Given the description of an element on the screen output the (x, y) to click on. 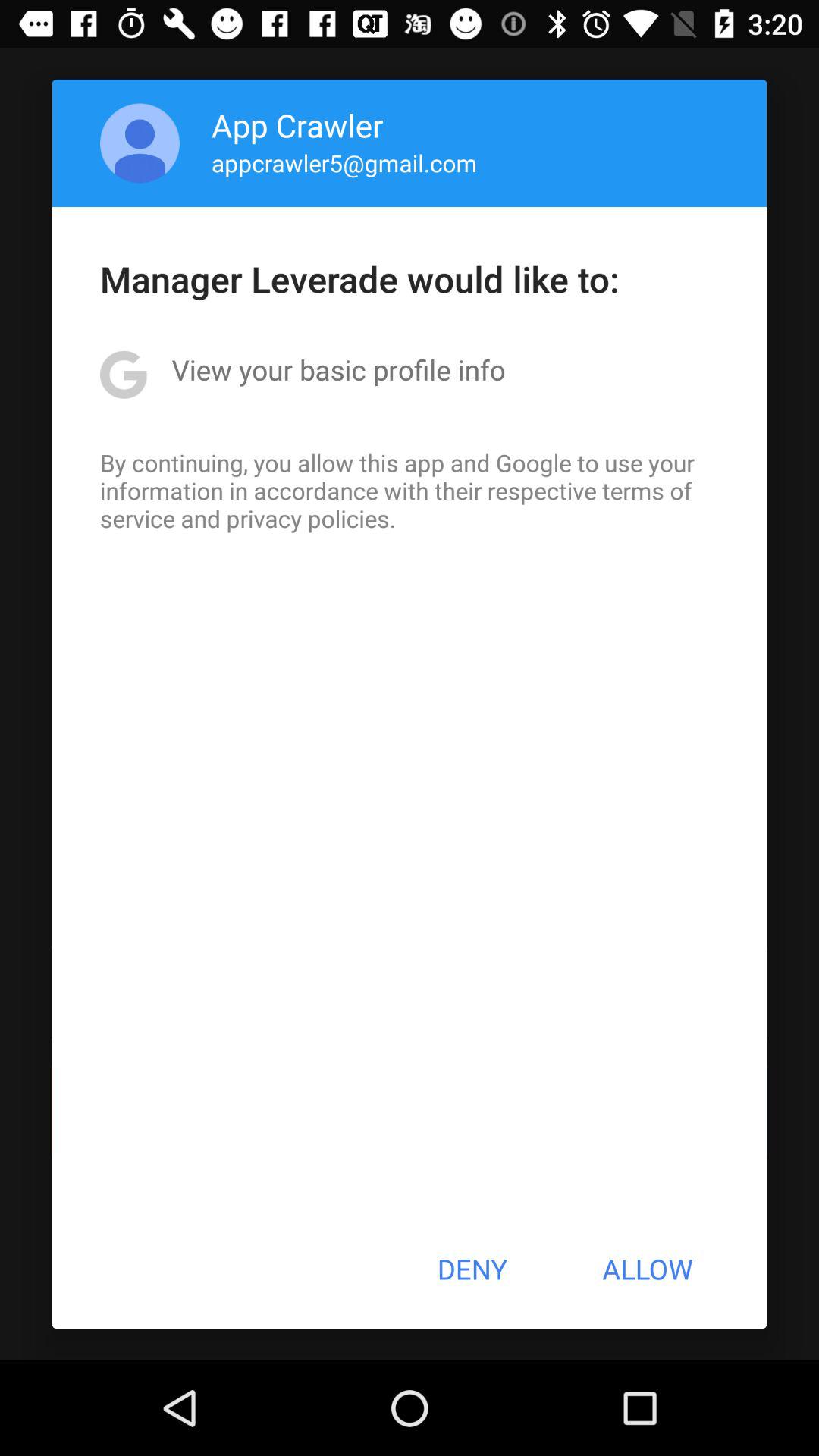
select icon below manager leverade would item (338, 369)
